Given the description of an element on the screen output the (x, y) to click on. 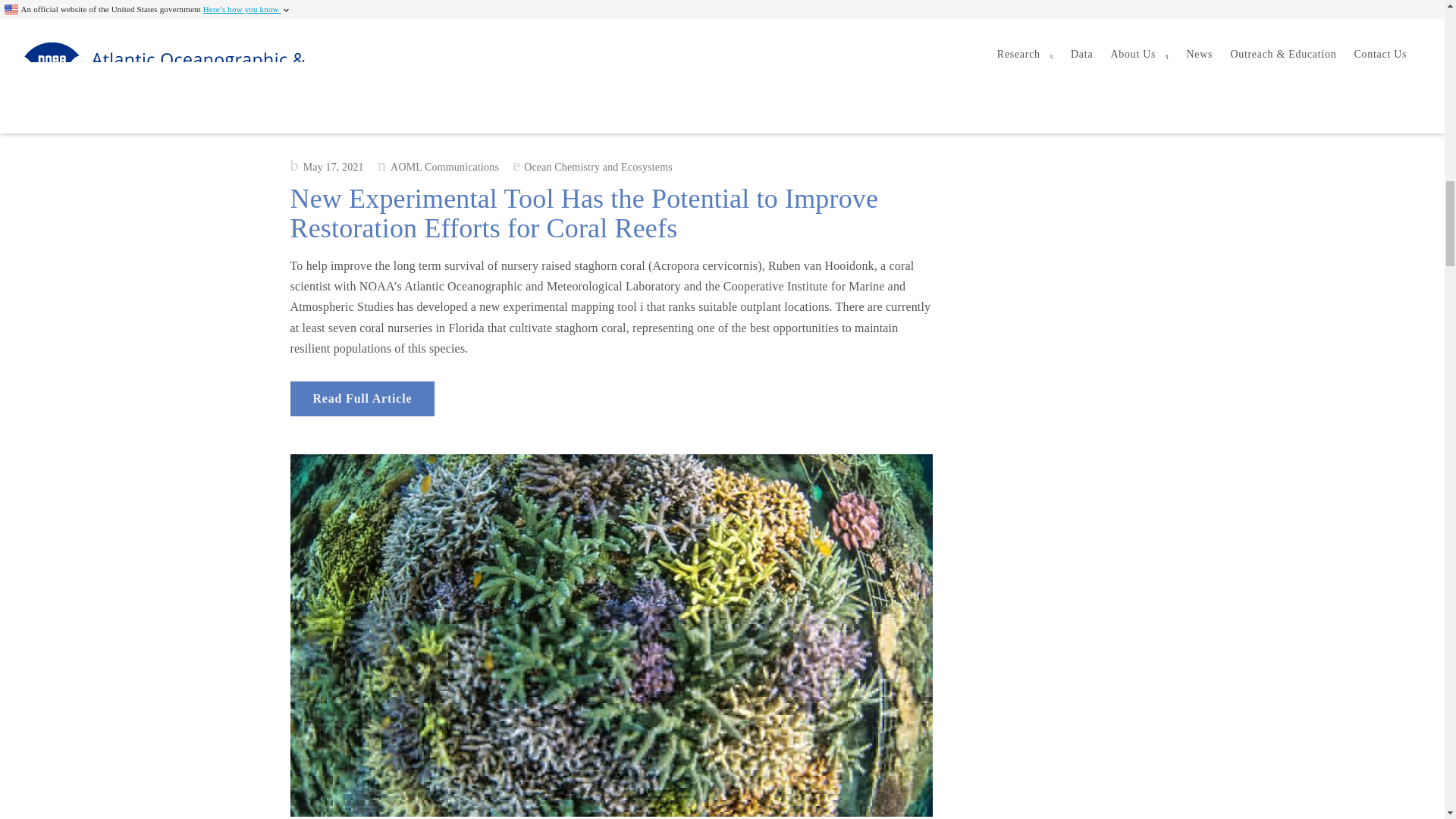
AOML Communications (438, 166)
Ocean Chemistry and Ecosystems (598, 166)
May 17, 2021 (325, 166)
